Given the description of an element on the screen output the (x, y) to click on. 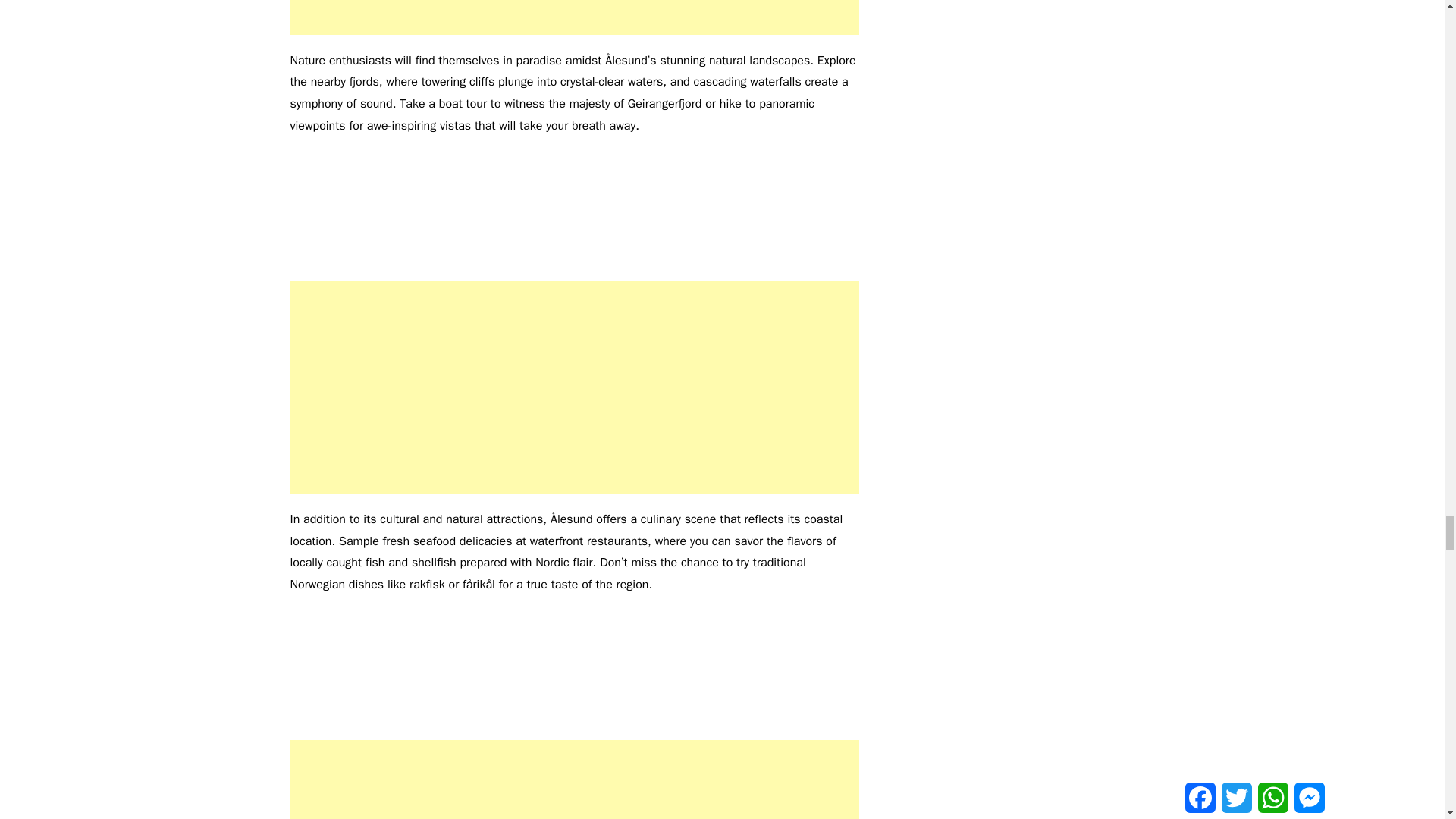
Advertisement (574, 779)
Advertisement (574, 17)
Advertisement (574, 387)
